Given the description of an element on the screen output the (x, y) to click on. 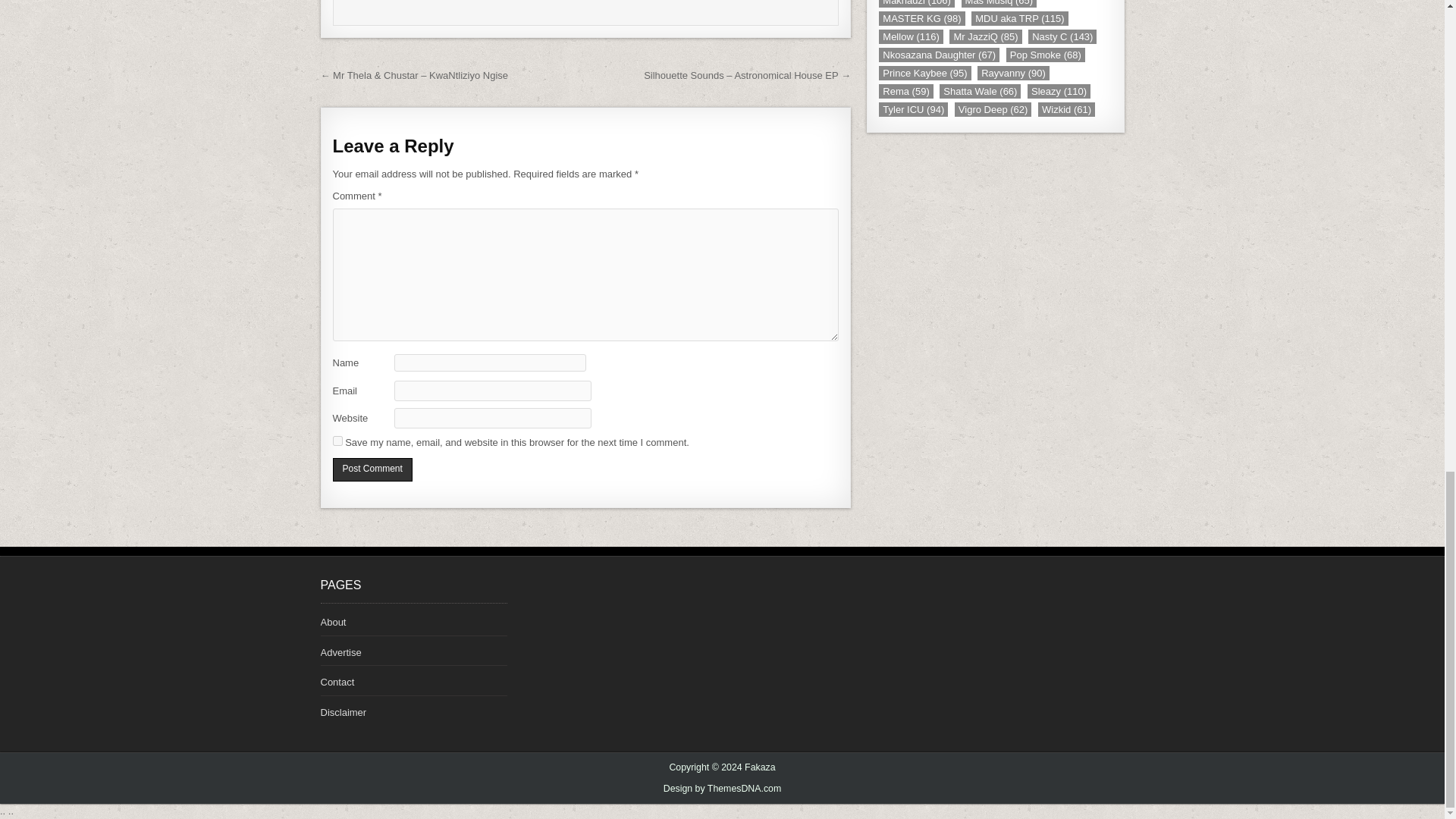
yes (336, 440)
Post Comment (371, 469)
Post Comment (371, 469)
